Given the description of an element on the screen output the (x, y) to click on. 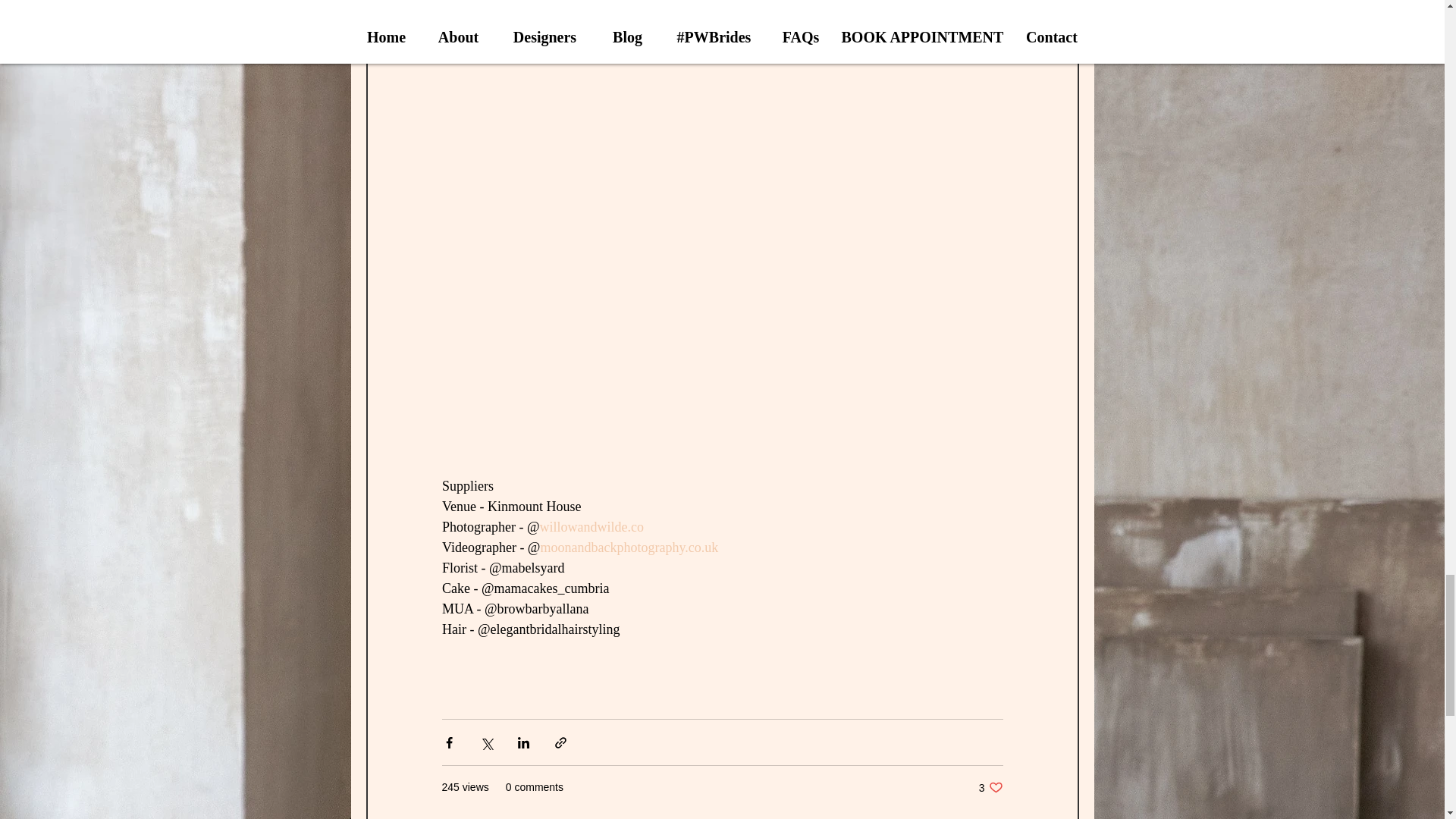
moonandbackphotography.co.uk (628, 547)
willowandwilde.co (590, 526)
